Given the description of an element on the screen output the (x, y) to click on. 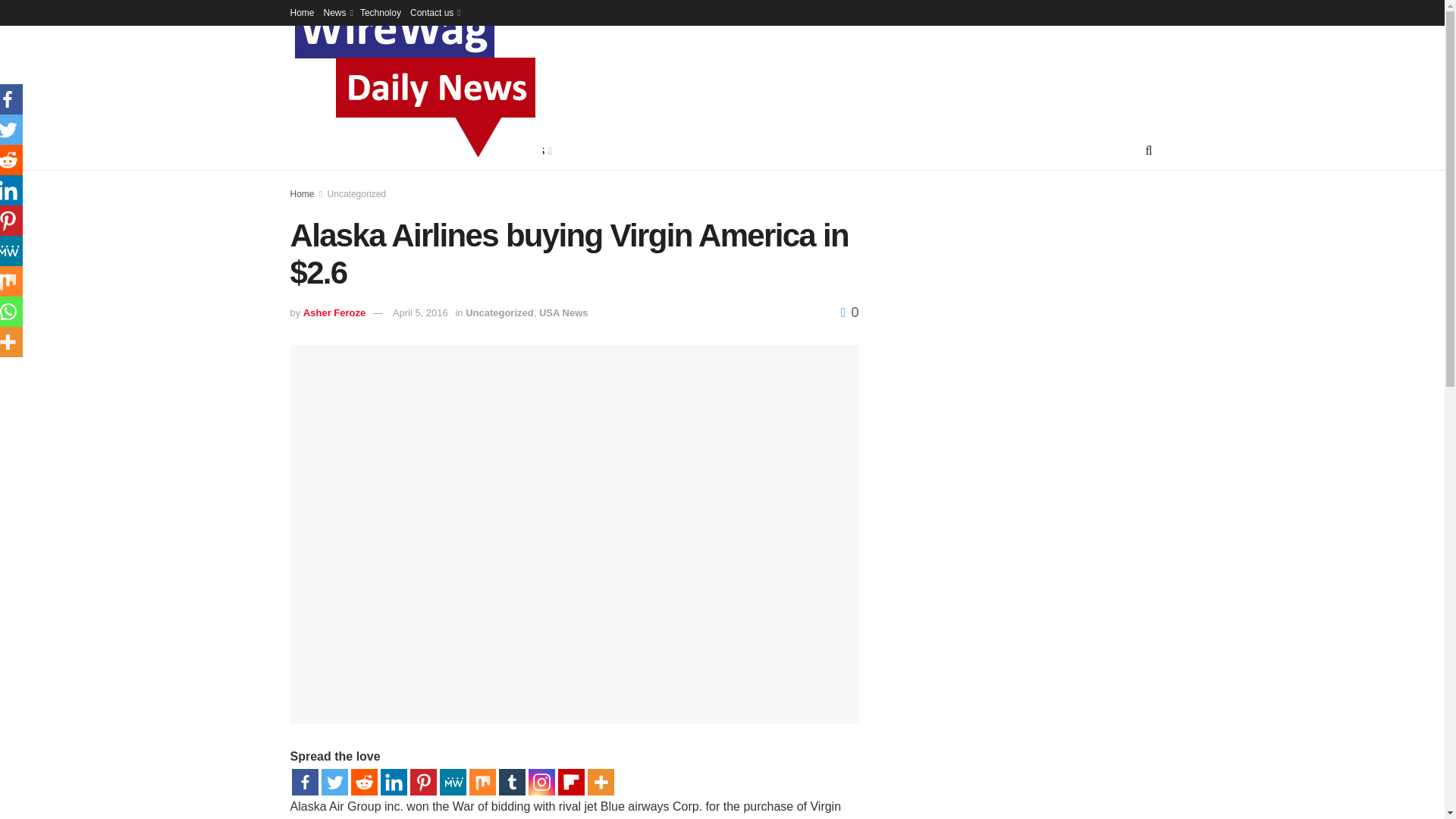
More (599, 782)
News (336, 12)
Pinterest (422, 782)
Mix (481, 782)
Linkedin (393, 782)
Home (301, 12)
Flipboard (571, 782)
Technoloy (380, 12)
Tumblr (512, 782)
Reddit (363, 782)
HOME (305, 150)
Instagram (540, 782)
NEWS (356, 150)
Contact us (434, 12)
Twitter (334, 782)
